Given the description of an element on the screen output the (x, y) to click on. 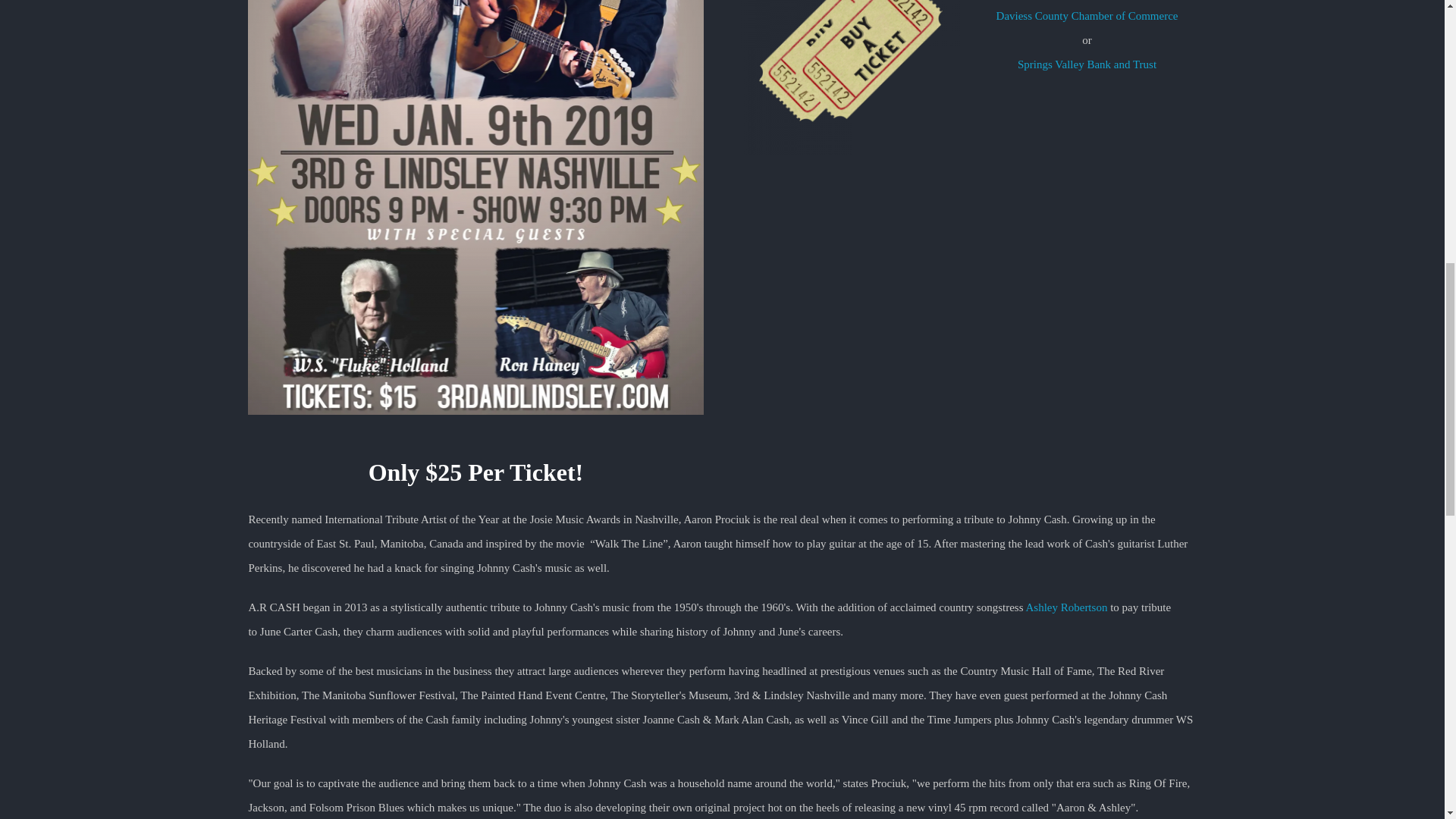
Ashley Robertson (1065, 607)
Tickets (850, 77)
Springs Valley Bank and Trust (1086, 64)
Daviess County Chamber of Commerce (1086, 15)
